Given the description of an element on the screen output the (x, y) to click on. 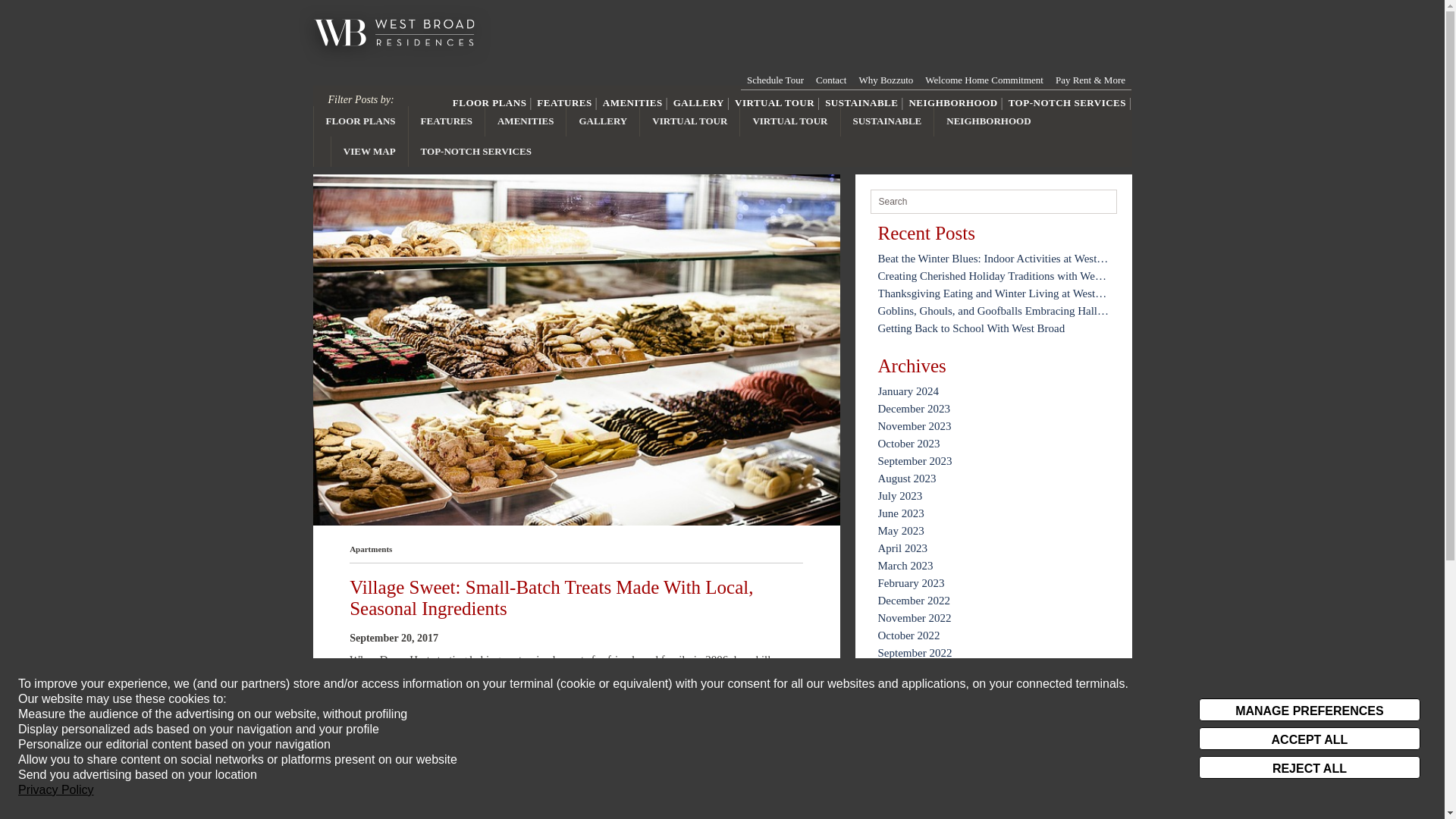
GALLERY (697, 102)
REJECT ALL (1309, 766)
Welcome Home Commitment (983, 80)
FLOOR PLANS (360, 121)
AMENITIES (525, 121)
Schedule Tour (774, 80)
AMENITIES (632, 102)
ACCEPT ALL (1309, 738)
TOP-NOTCH SERVICES (1067, 102)
VIEW MAP (369, 151)
MANAGE PREFERENCES (1309, 709)
SUSTAINABLE (861, 102)
GALLERY (602, 121)
VIRTUAL TOUR (689, 121)
Contact (830, 80)
